Given the description of an element on the screen output the (x, y) to click on. 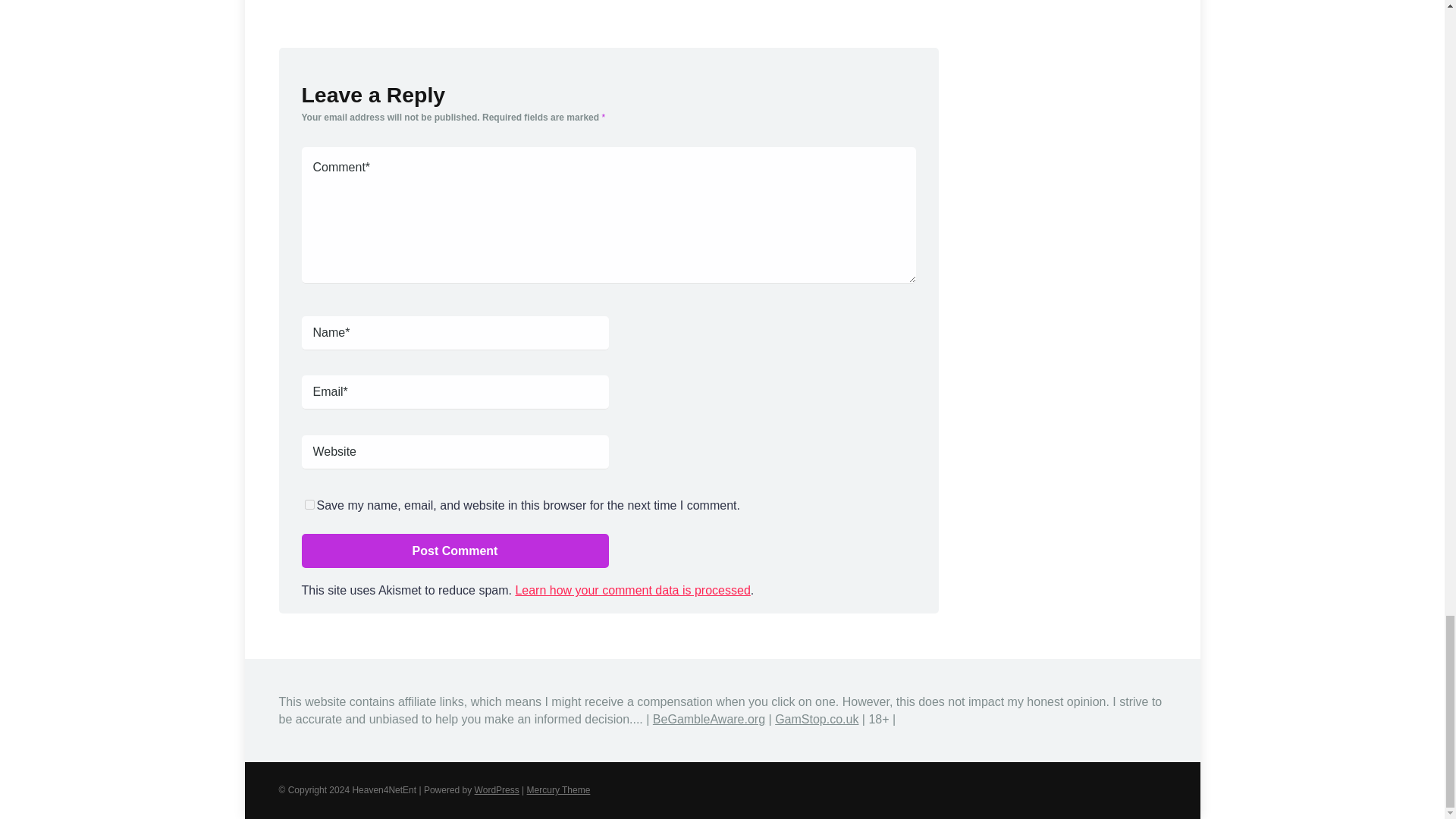
yes (309, 504)
Affiliate Marketing WordPress Theme. Reviews and Top Lists (559, 789)
WordPress (496, 789)
Post Comment (454, 550)
